Given the description of an element on the screen output the (x, y) to click on. 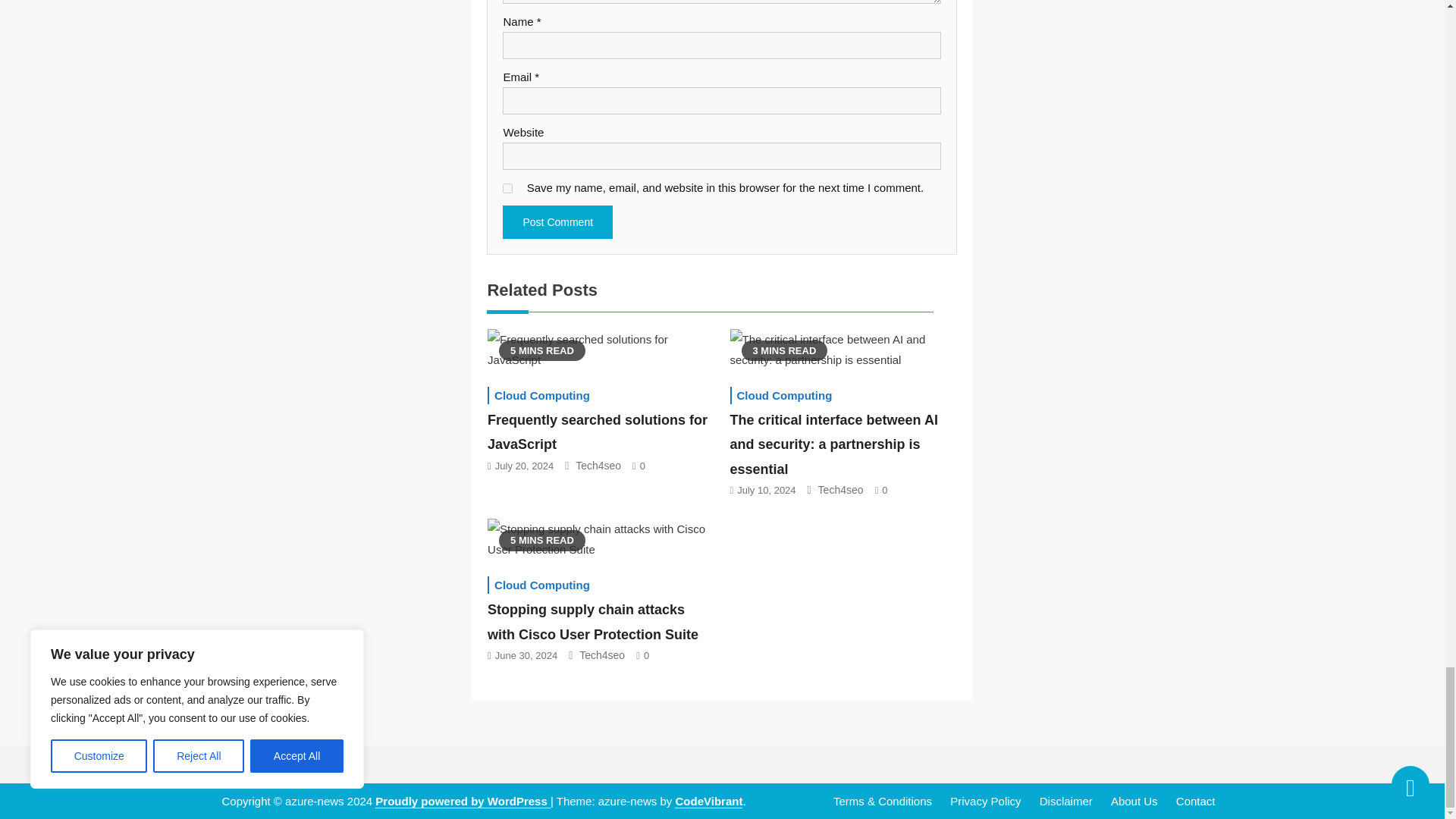
Post Comment (557, 222)
yes (507, 188)
